Given the description of an element on the screen output the (x, y) to click on. 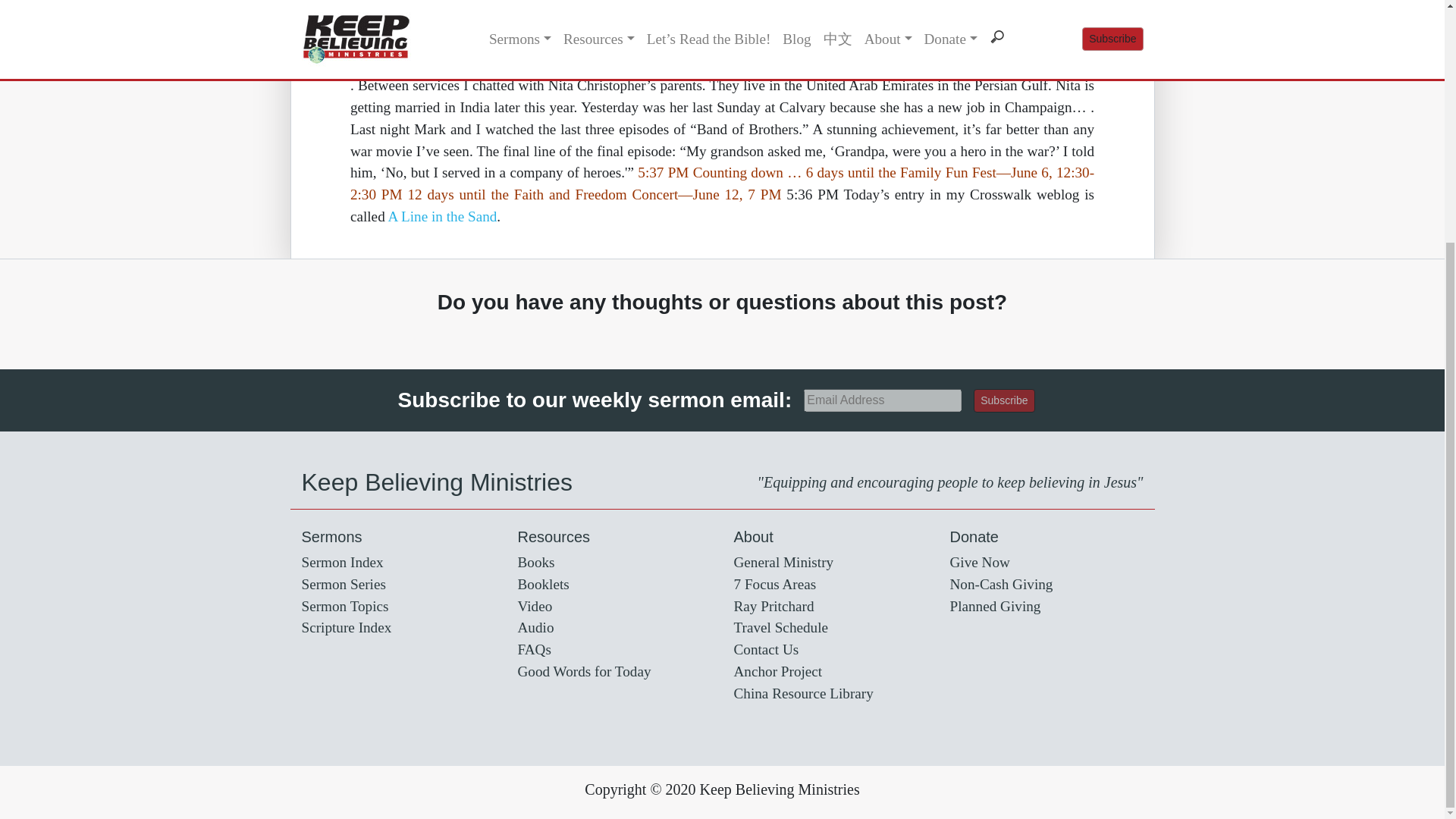
Sermon Topics (344, 606)
Sermon Series (343, 584)
Scripture Index (346, 627)
Sermon Index (342, 562)
Subscribe (1003, 400)
A Line in the Sand (441, 216)
